Given the description of an element on the screen output the (x, y) to click on. 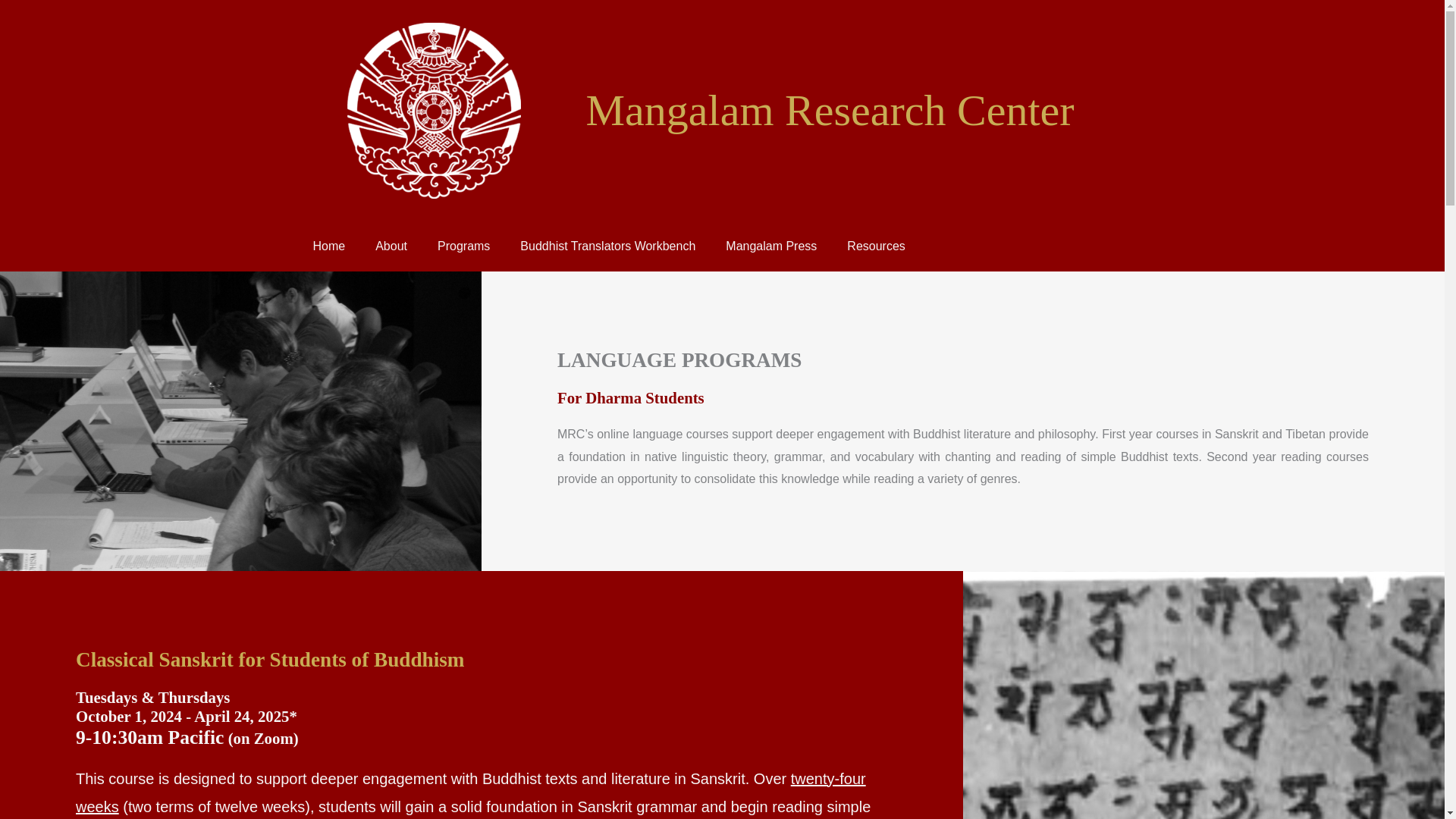
Mangalam Research Center (829, 110)
About (390, 246)
Programs (463, 246)
Resources (875, 246)
Home (328, 246)
Buddhist Translators Workbench (607, 246)
Mangalam Press (770, 246)
